Given the description of an element on the screen output the (x, y) to click on. 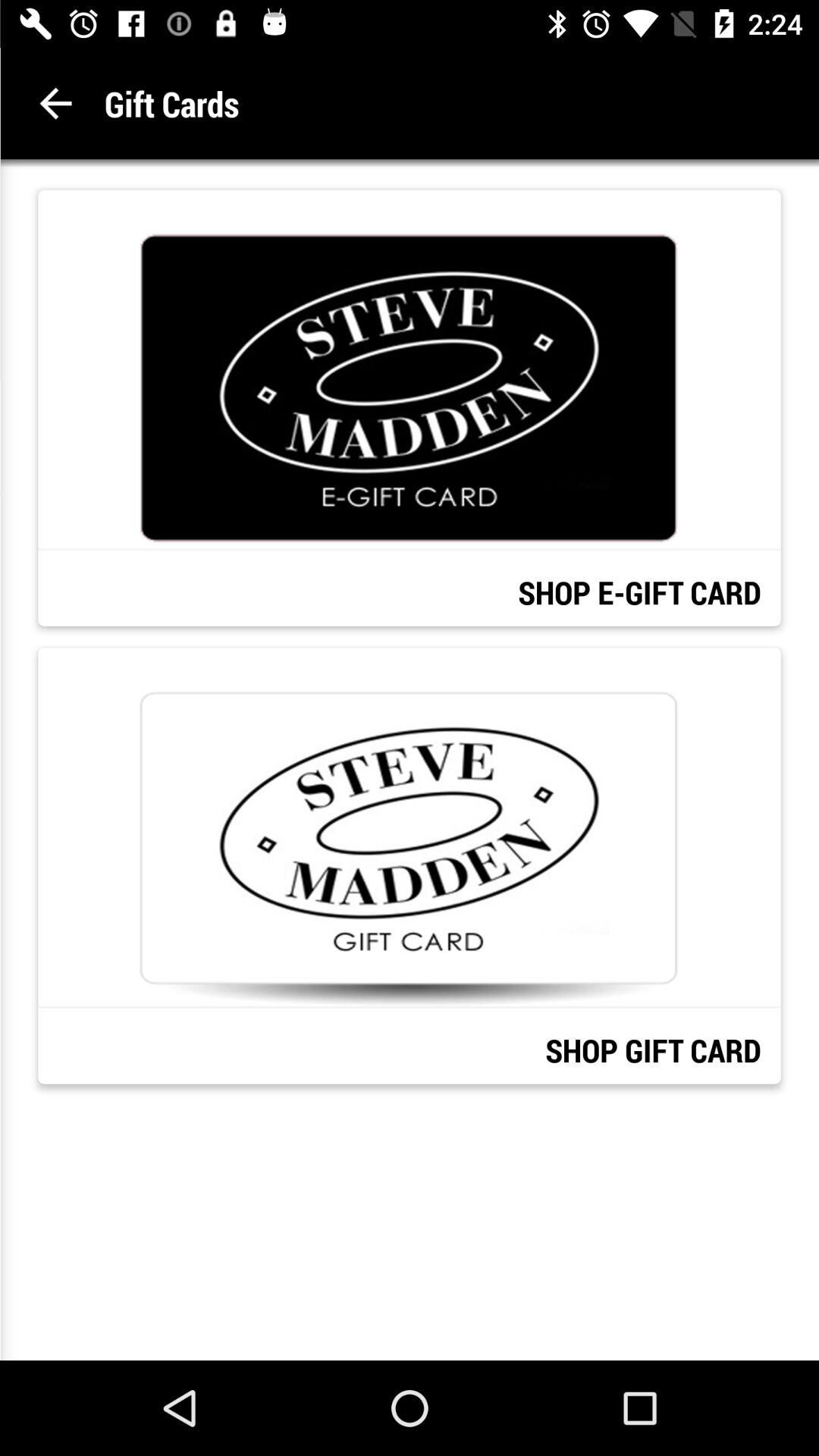
go back (55, 103)
